Given the description of an element on the screen output the (x, y) to click on. 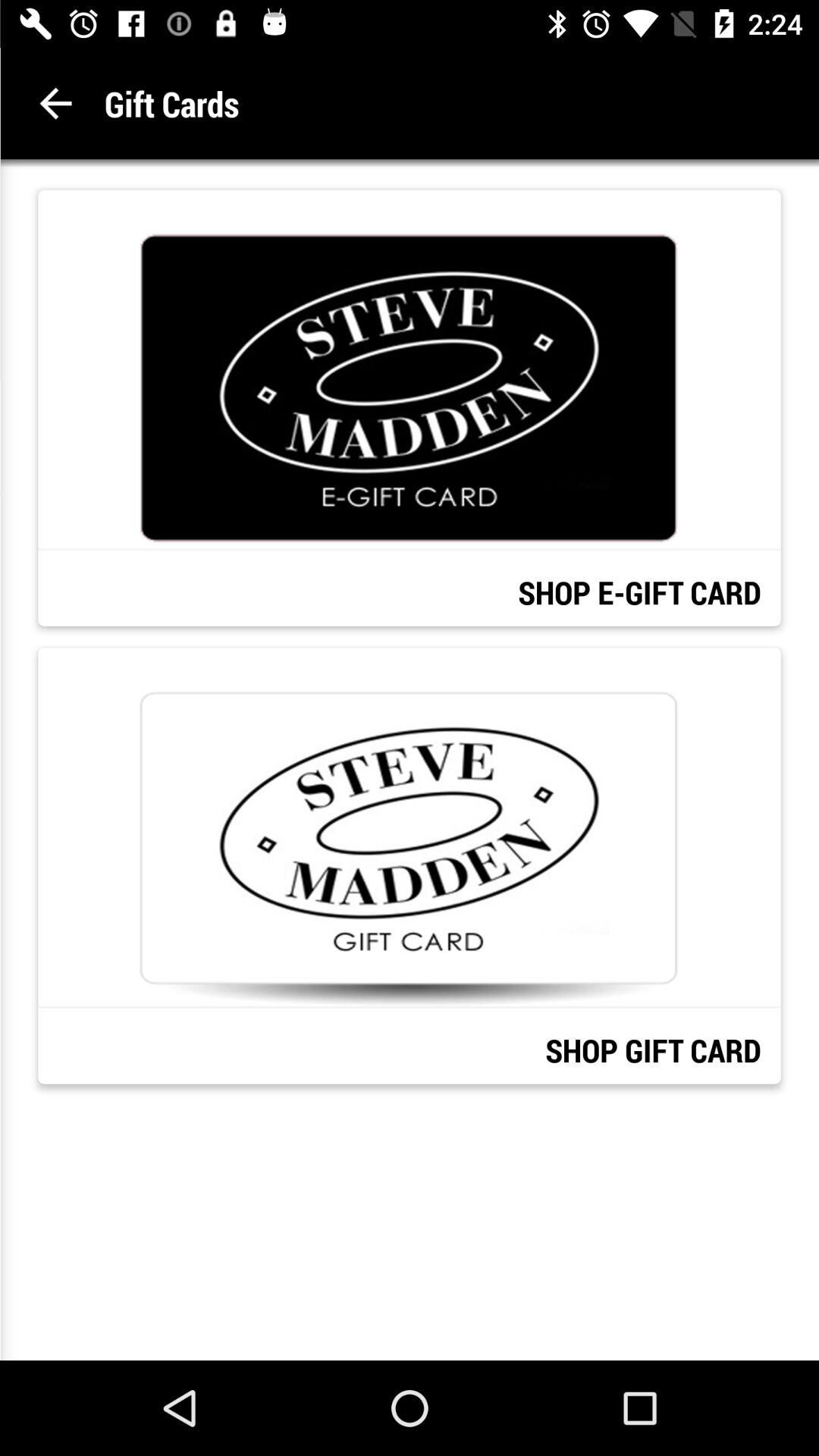
go back (55, 103)
